Given the description of an element on the screen output the (x, y) to click on. 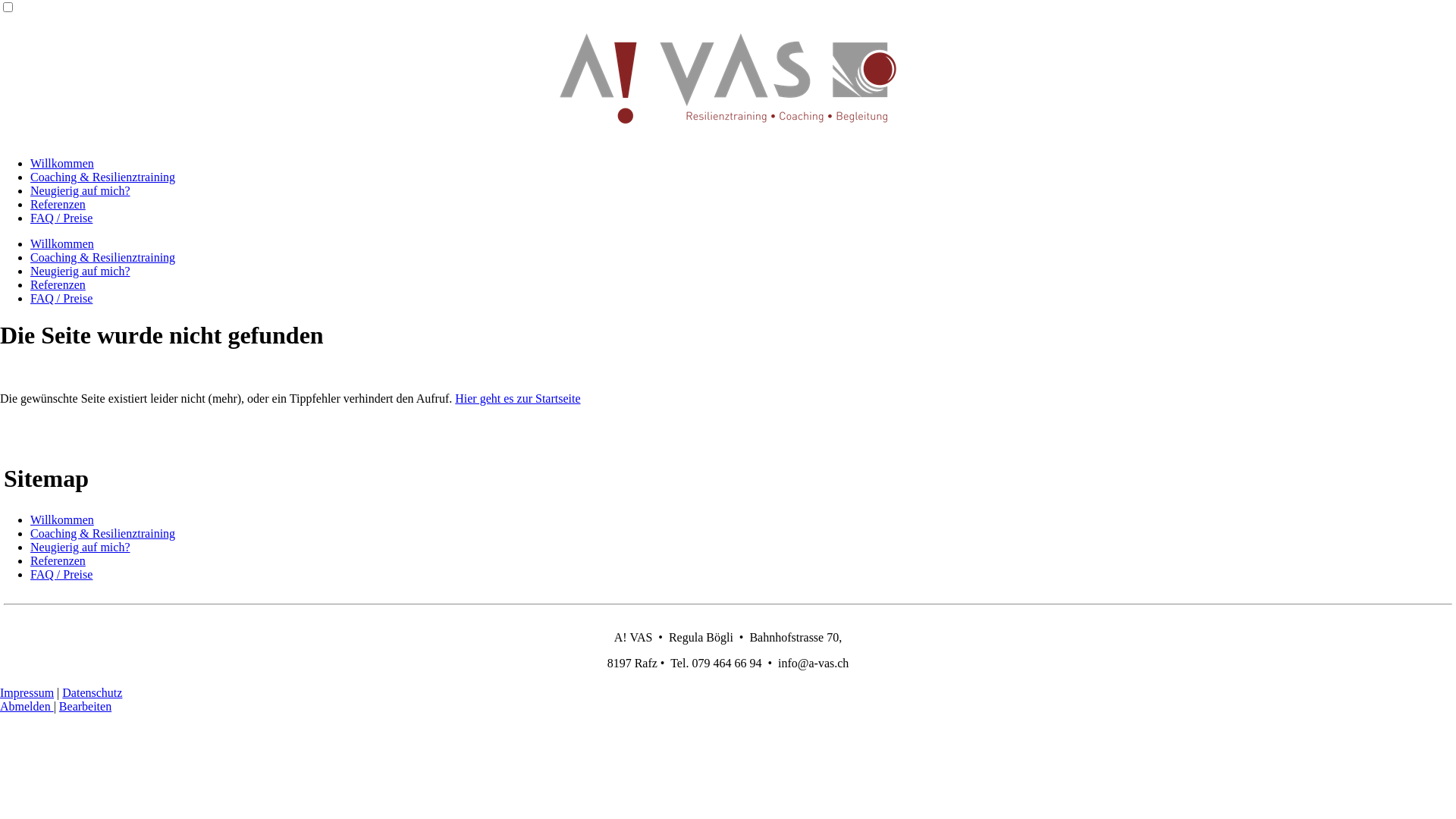
Coaching & Resilienztraining Element type: text (102, 257)
Impressum Element type: text (26, 692)
Willkommen Element type: text (62, 519)
Neugierig auf mich? Element type: text (80, 546)
Neugierig auf mich? Element type: text (80, 190)
FAQ / Preise Element type: text (61, 217)
Willkommen Element type: text (62, 243)
Hier geht es zur Startseite Element type: text (517, 398)
Neugierig auf mich? Element type: text (80, 270)
Coaching & Resilienztraining Element type: text (102, 176)
Referenzen Element type: text (57, 284)
Referenzen Element type: text (57, 203)
Coaching & Resilienztraining Element type: text (102, 533)
Bearbeiten Element type: text (85, 705)
FAQ / Preise Element type: text (61, 573)
Referenzen Element type: text (57, 560)
Abmelden Element type: text (26, 705)
FAQ / Preise Element type: text (61, 297)
Willkommen Element type: text (62, 162)
Datenschutz Element type: text (92, 692)
